Given the description of an element on the screen output the (x, y) to click on. 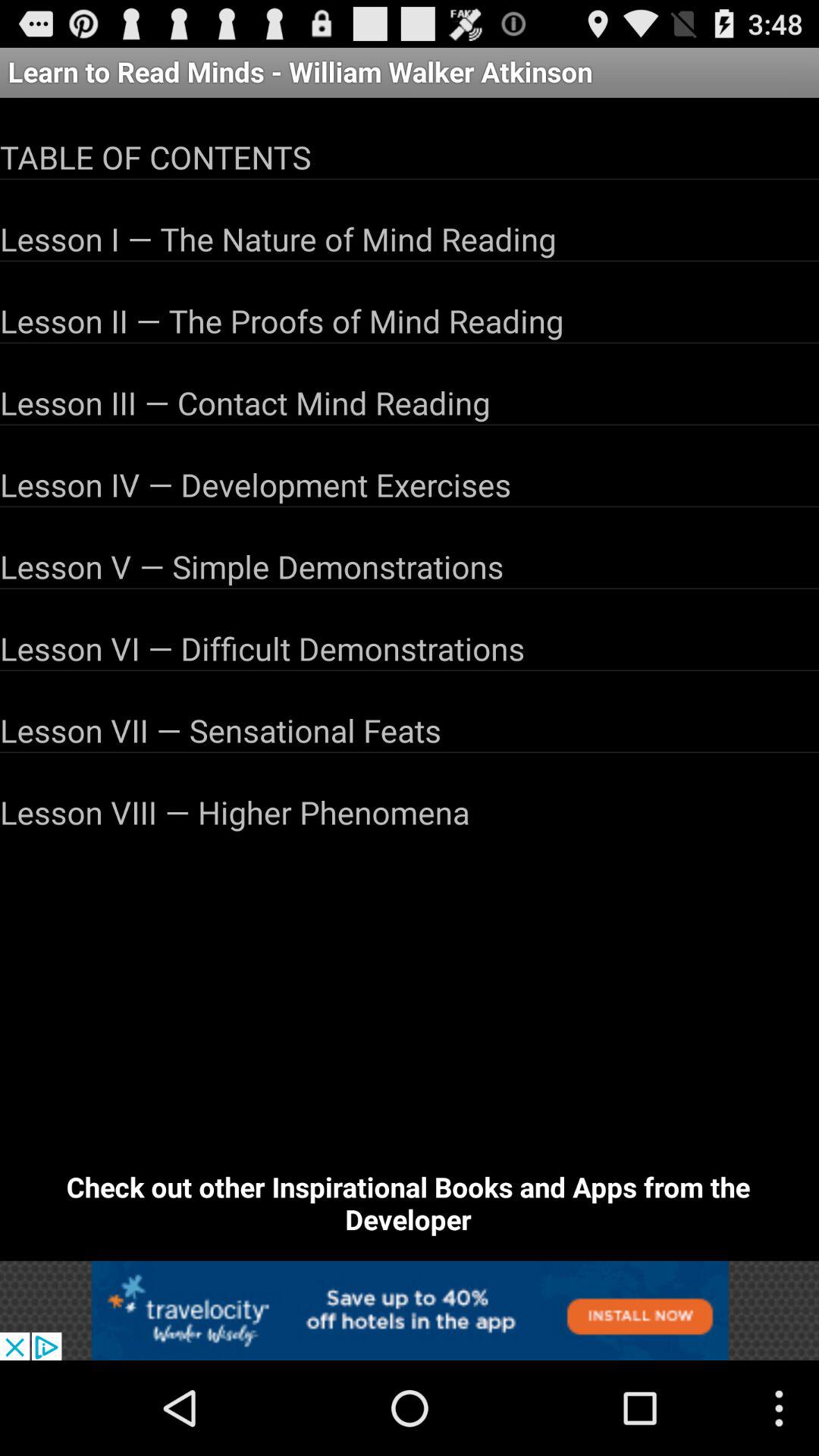
advertisement (409, 1310)
